Given the description of an element on the screen output the (x, y) to click on. 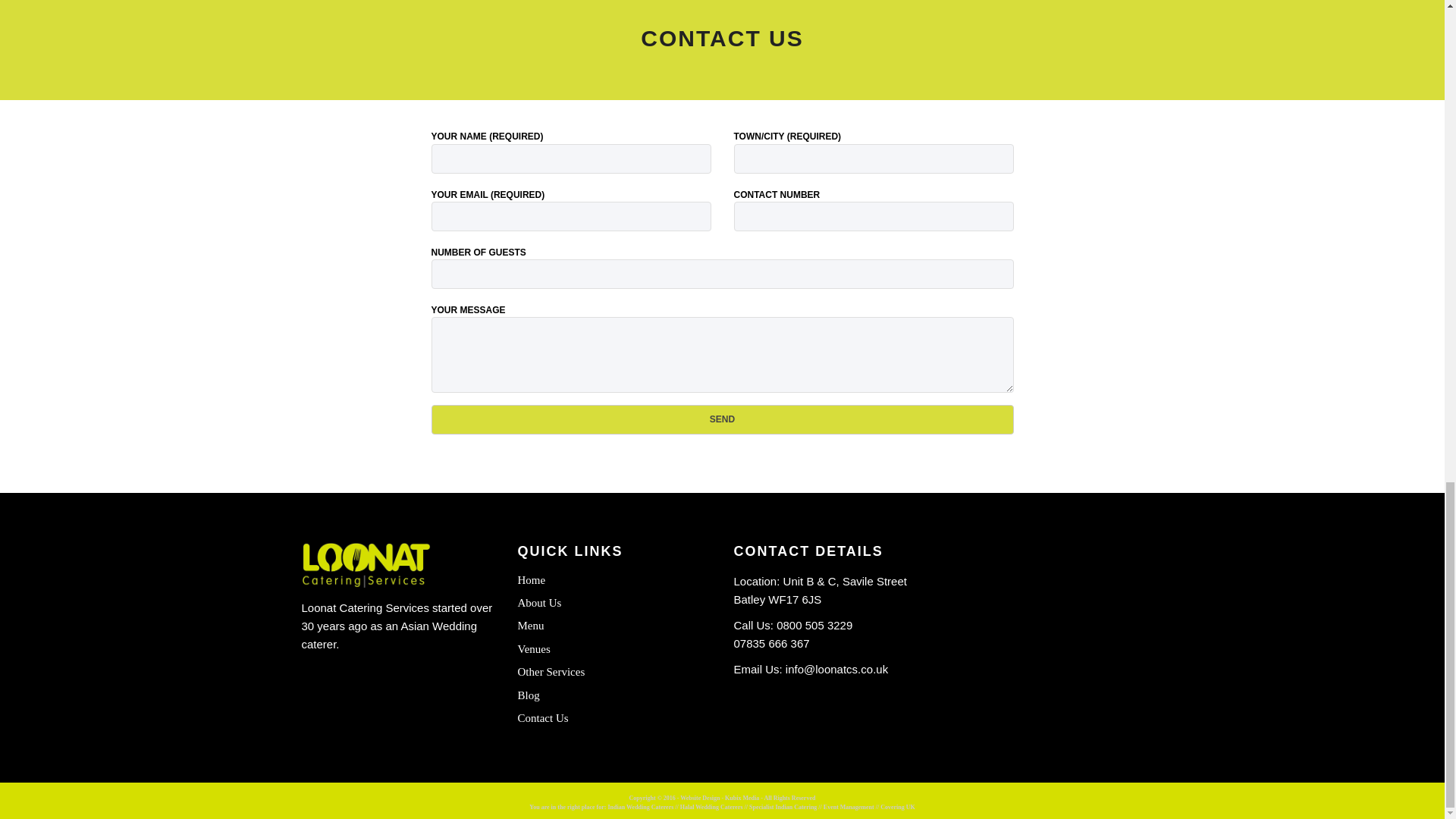
Send (721, 419)
Home (613, 579)
Send (721, 419)
